Given the description of an element on the screen output the (x, y) to click on. 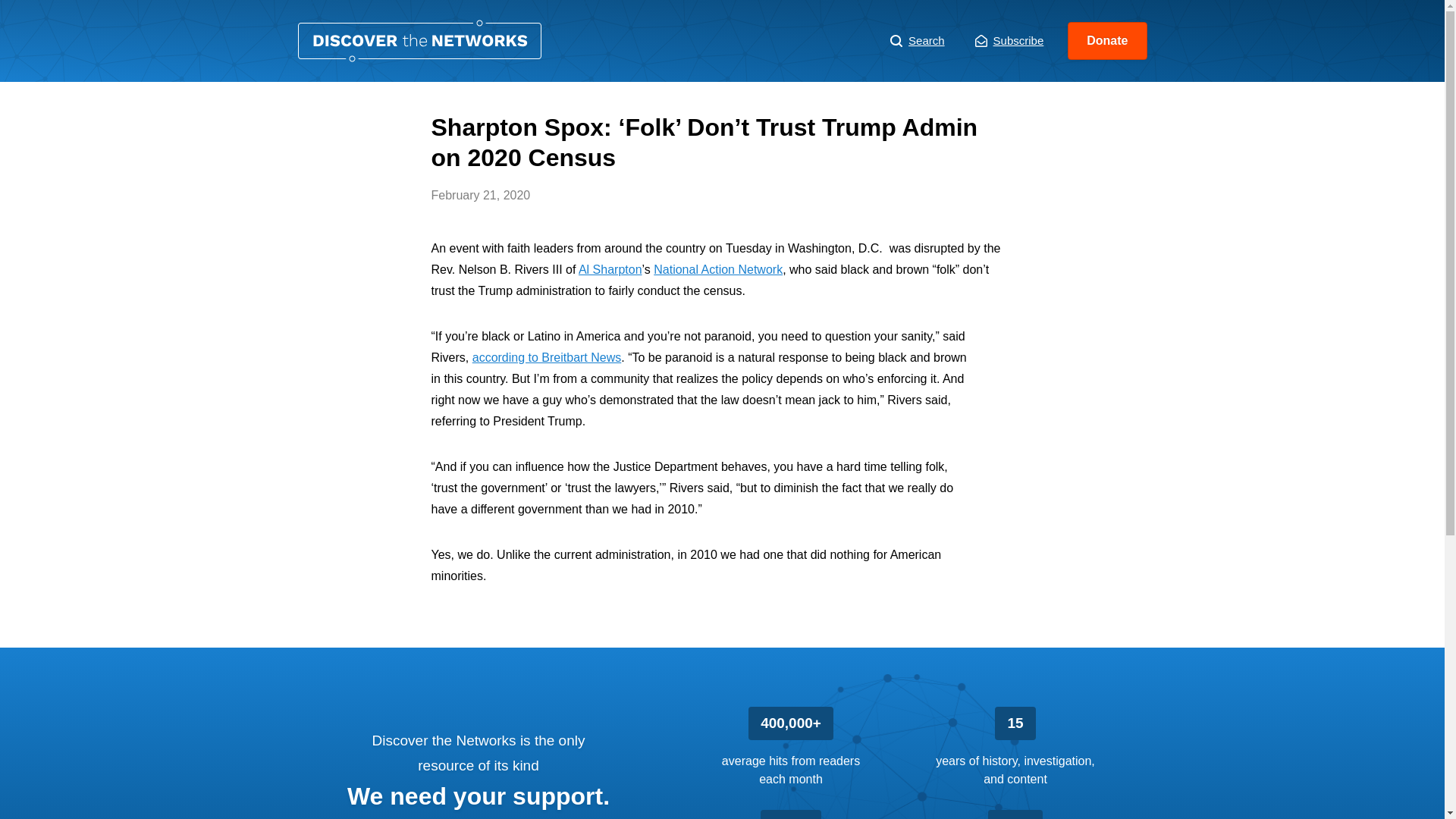
Donate (1107, 40)
National Action Network (718, 269)
Al Sharpton (610, 269)
according to Breitbart News (546, 357)
Search (916, 40)
Subscribe (1009, 40)
